Given the description of an element on the screen output the (x, y) to click on. 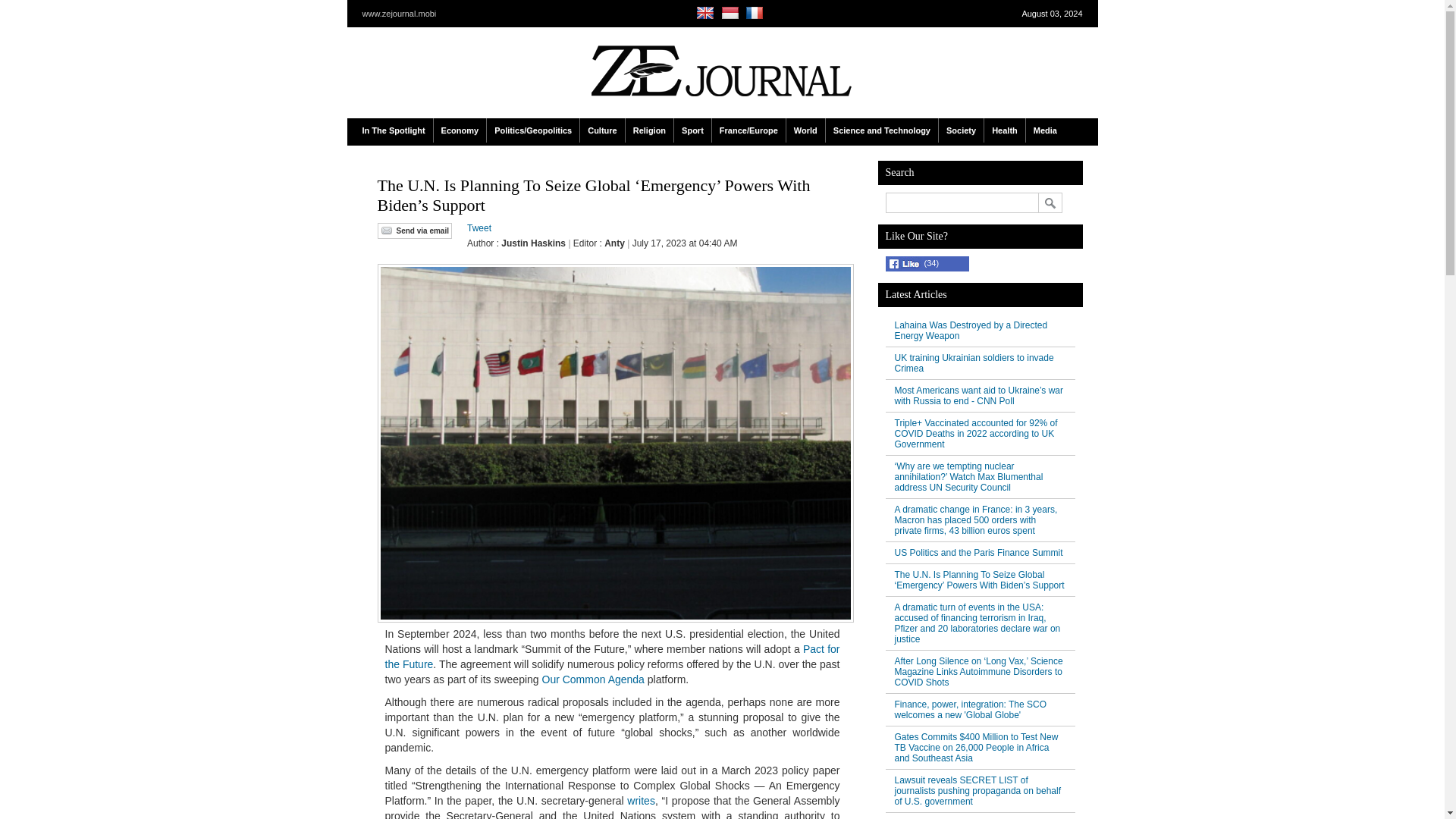
Religion (649, 129)
Pact for the Future (612, 656)
Society (961, 129)
Media (1045, 129)
ZEjournal.mobi (719, 70)
Our Common Agenda (592, 679)
English (706, 13)
Send via email (414, 230)
Science and Technology (881, 129)
Health (1004, 129)
www.zejournal.mobi (399, 13)
writes (641, 800)
Indonesia (731, 13)
Sport (692, 129)
Economy (459, 129)
